Given the description of an element on the screen output the (x, y) to click on. 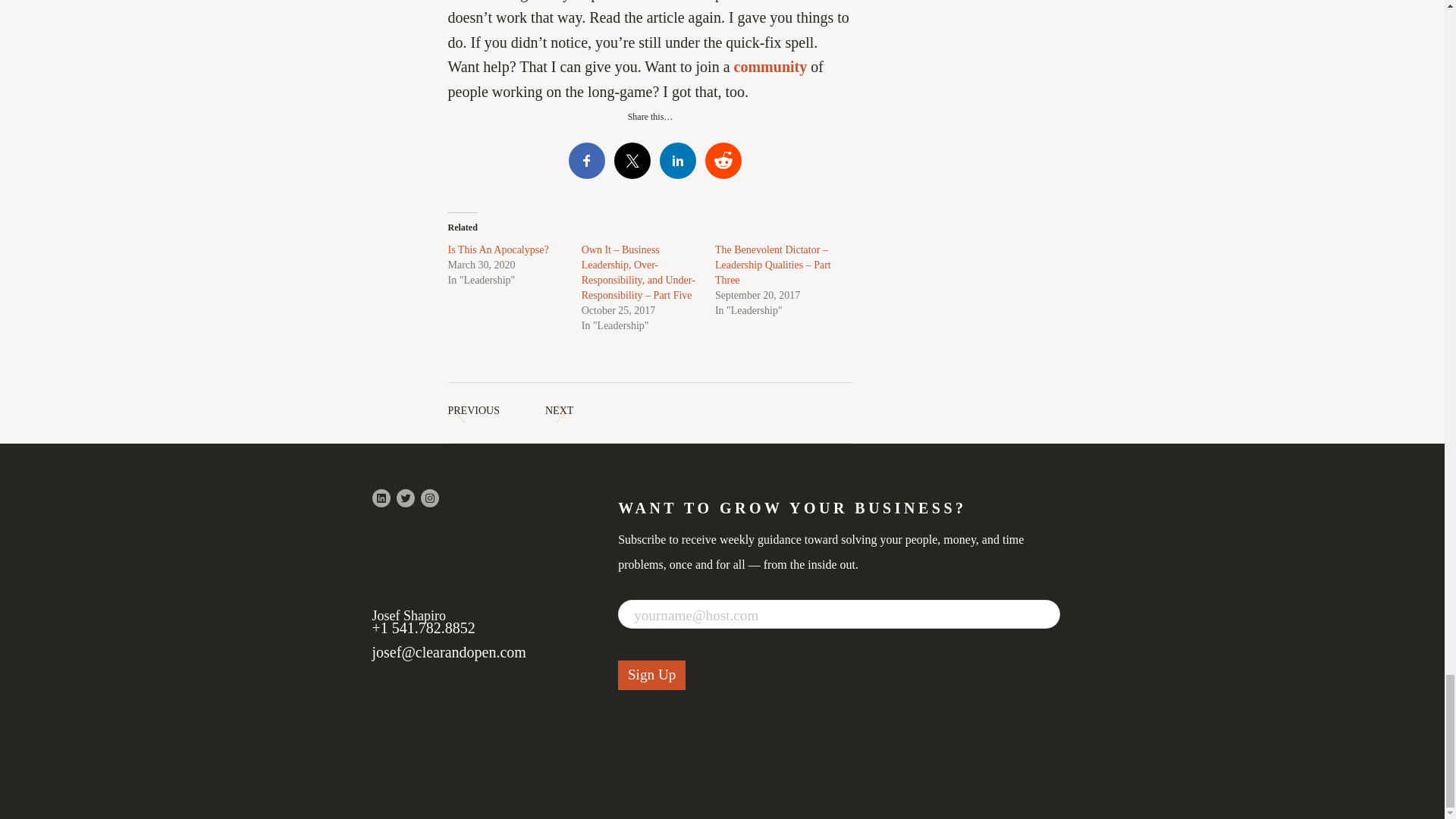
Sign Up (651, 674)
